Given the description of an element on the screen output the (x, y) to click on. 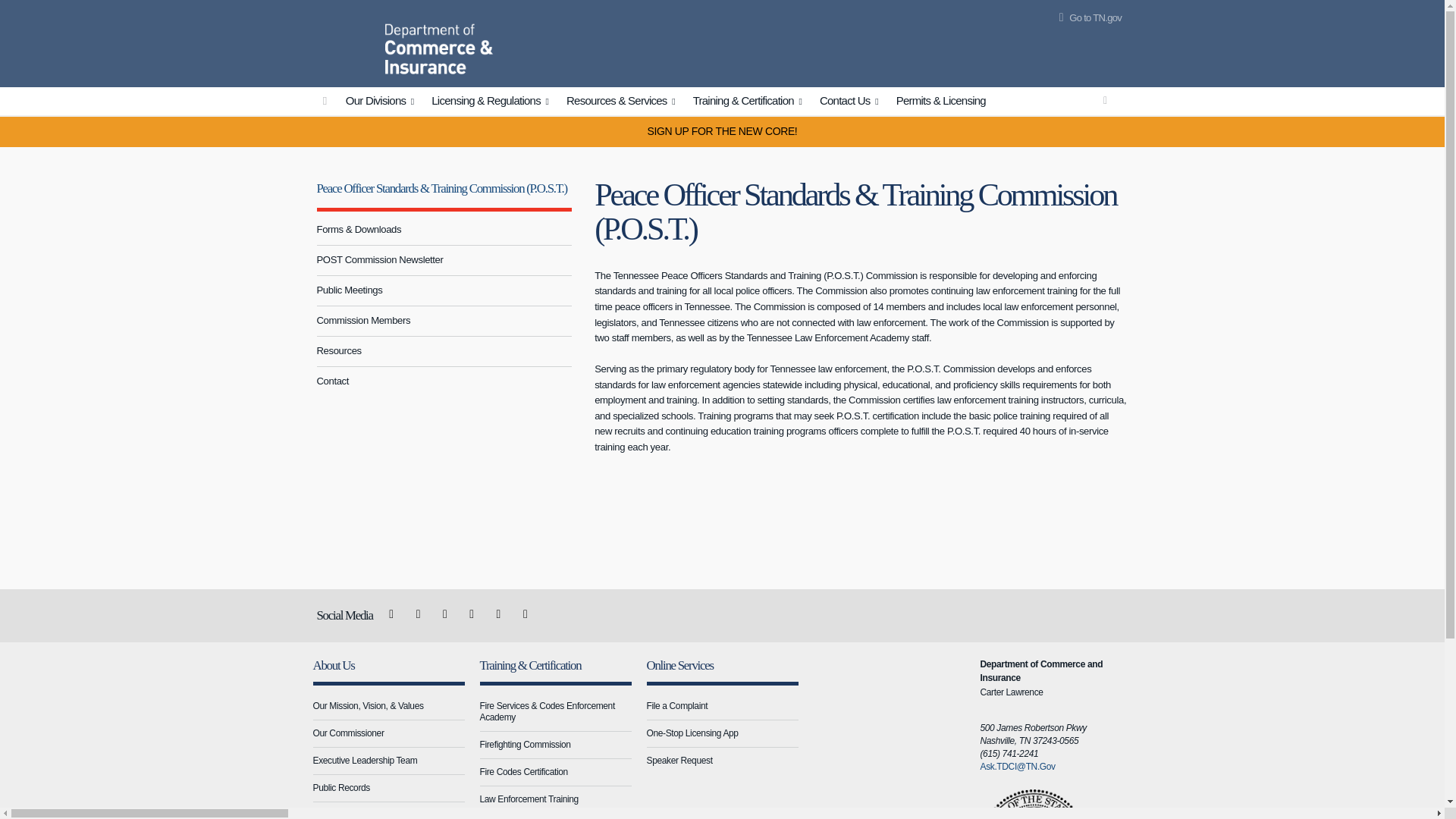
Our Divisions (381, 101)
Home (347, 41)
Contact Us (850, 101)
Go to TN.gov (1086, 18)
